Given the description of an element on the screen output the (x, y) to click on. 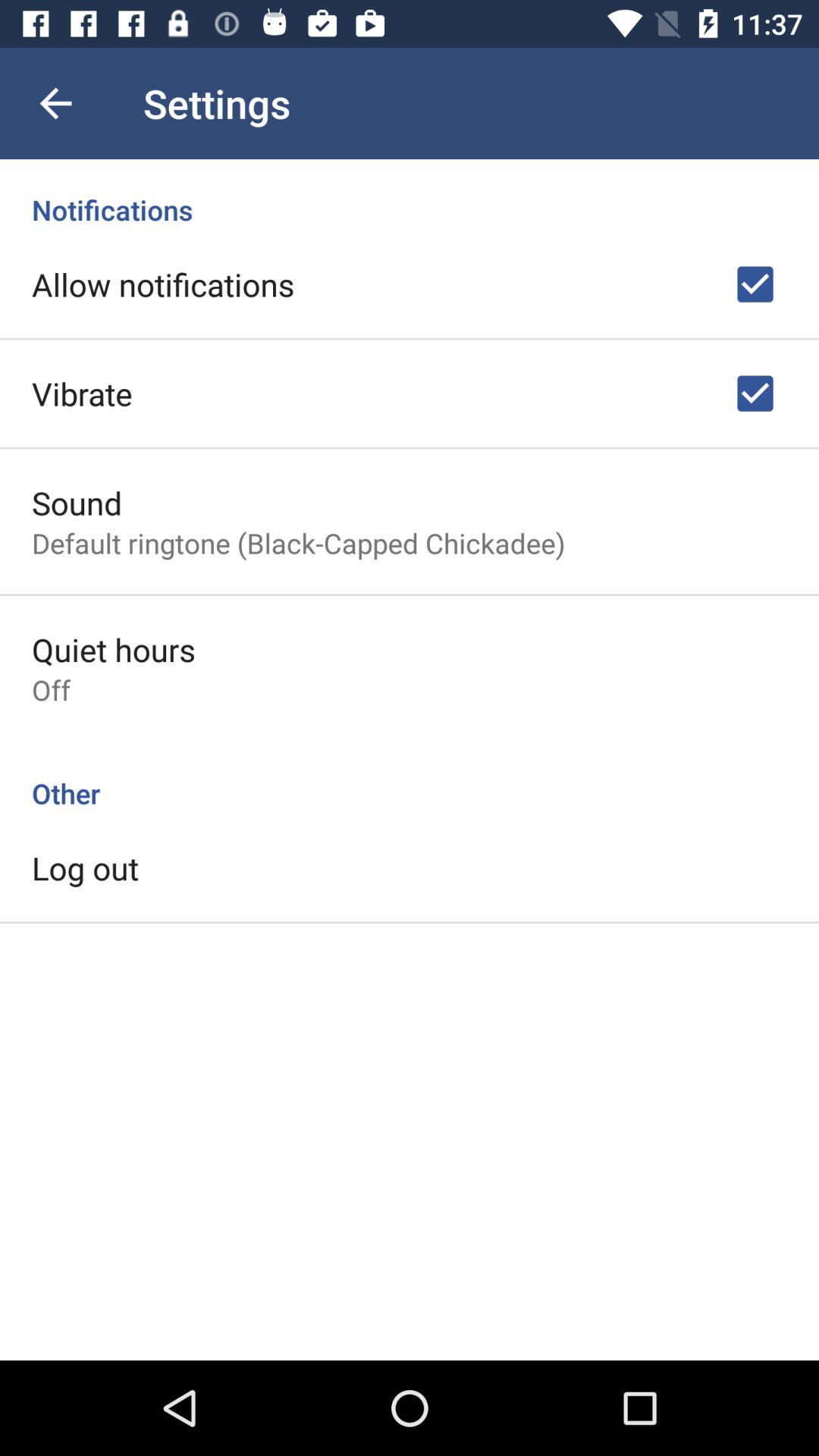
press the item to the left of settings icon (55, 103)
